Given the description of an element on the screen output the (x, y) to click on. 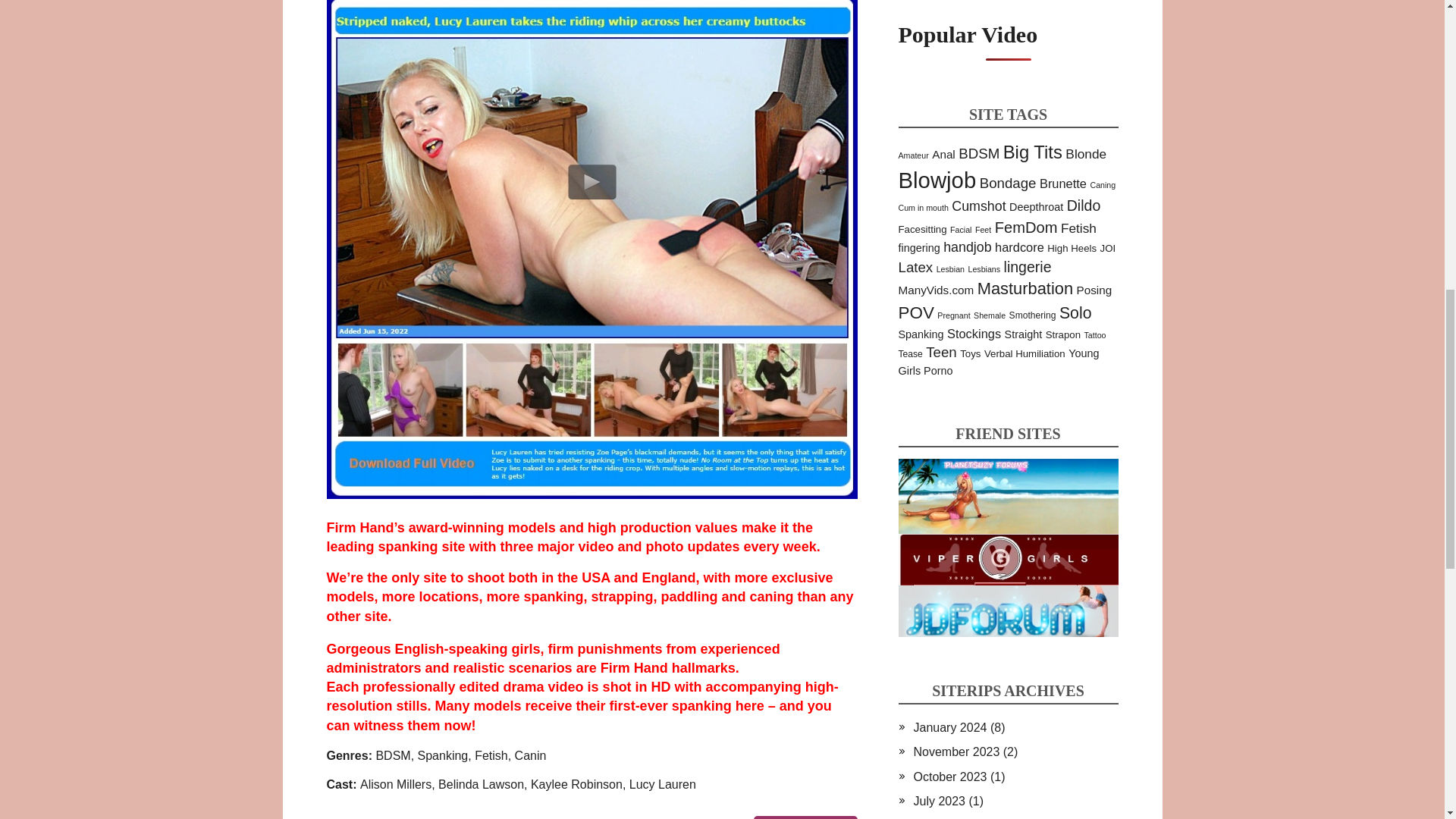
Read more (805, 817)
FirmHandSpanking.com Download Siterip Adult Videos (805, 817)
